Given the description of an element on the screen output the (x, y) to click on. 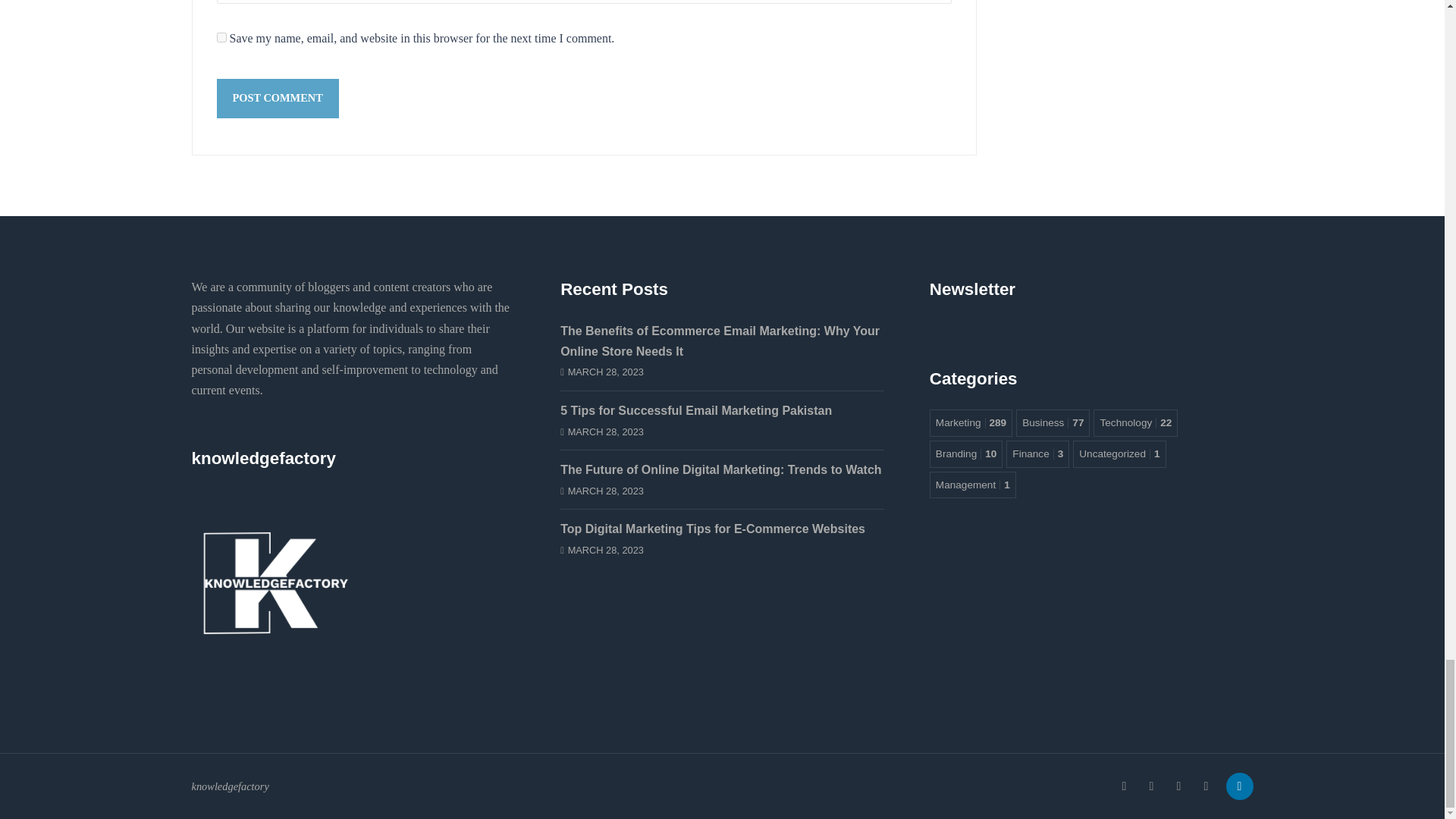
instagram (1150, 786)
Twitter (1178, 786)
knowledgefactory (274, 572)
facebook (1123, 786)
Pinterest (1206, 786)
Go to Top (1236, 786)
Post Comment (277, 97)
yes (221, 37)
